Given the description of an element on the screen output the (x, y) to click on. 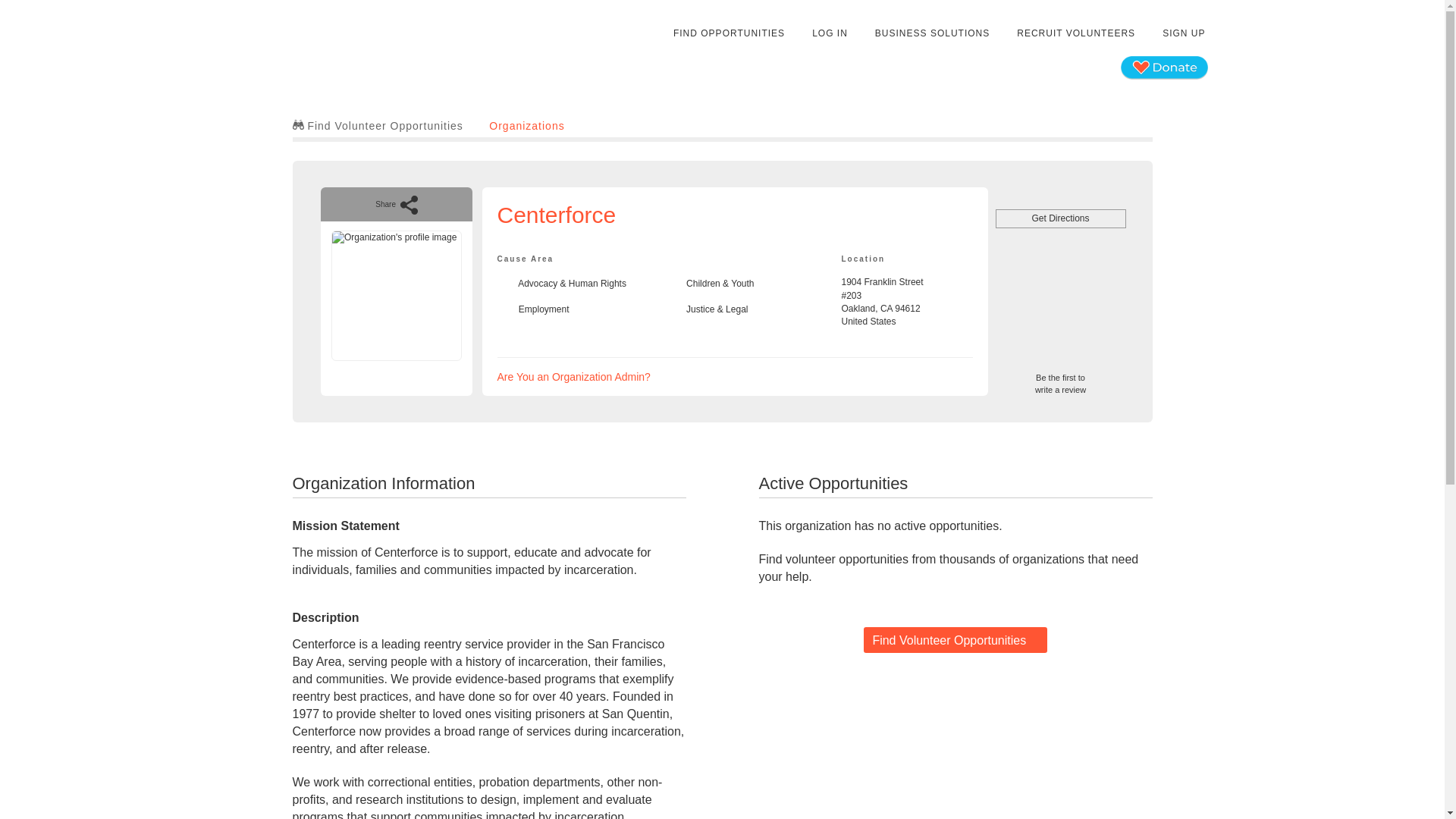
Find Volunteer Opportunities (377, 125)
FIND OPPORTUNITIES (729, 32)
LOG IN (829, 32)
RECRUIT VOLUNTEERS (1075, 32)
Organizations (573, 377)
Find Volunteer Opportunities (526, 125)
Get Directions (954, 639)
SIGN UP (1059, 377)
